Given the description of an element on the screen output the (x, y) to click on. 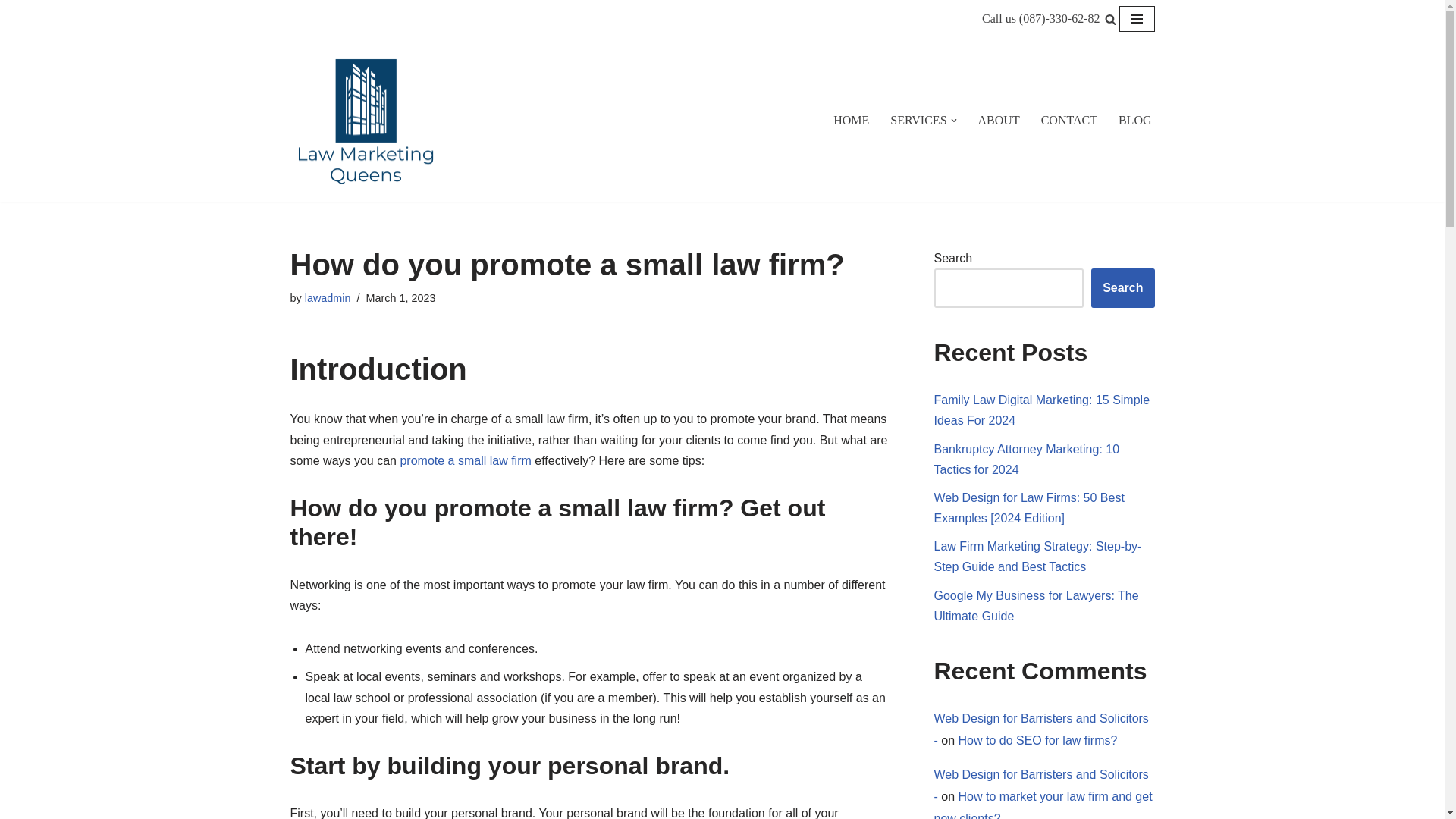
Google My Business for Lawyers: The Ultimate Guide (1036, 605)
Skip to content (11, 31)
lawadmin (327, 297)
promote a small law firm (464, 460)
Navigation Menu (1136, 18)
SERVICES (917, 119)
Search (1122, 287)
HOME (850, 119)
ABOUT (999, 119)
CONTACT (1069, 119)
